Given the description of an element on the screen output the (x, y) to click on. 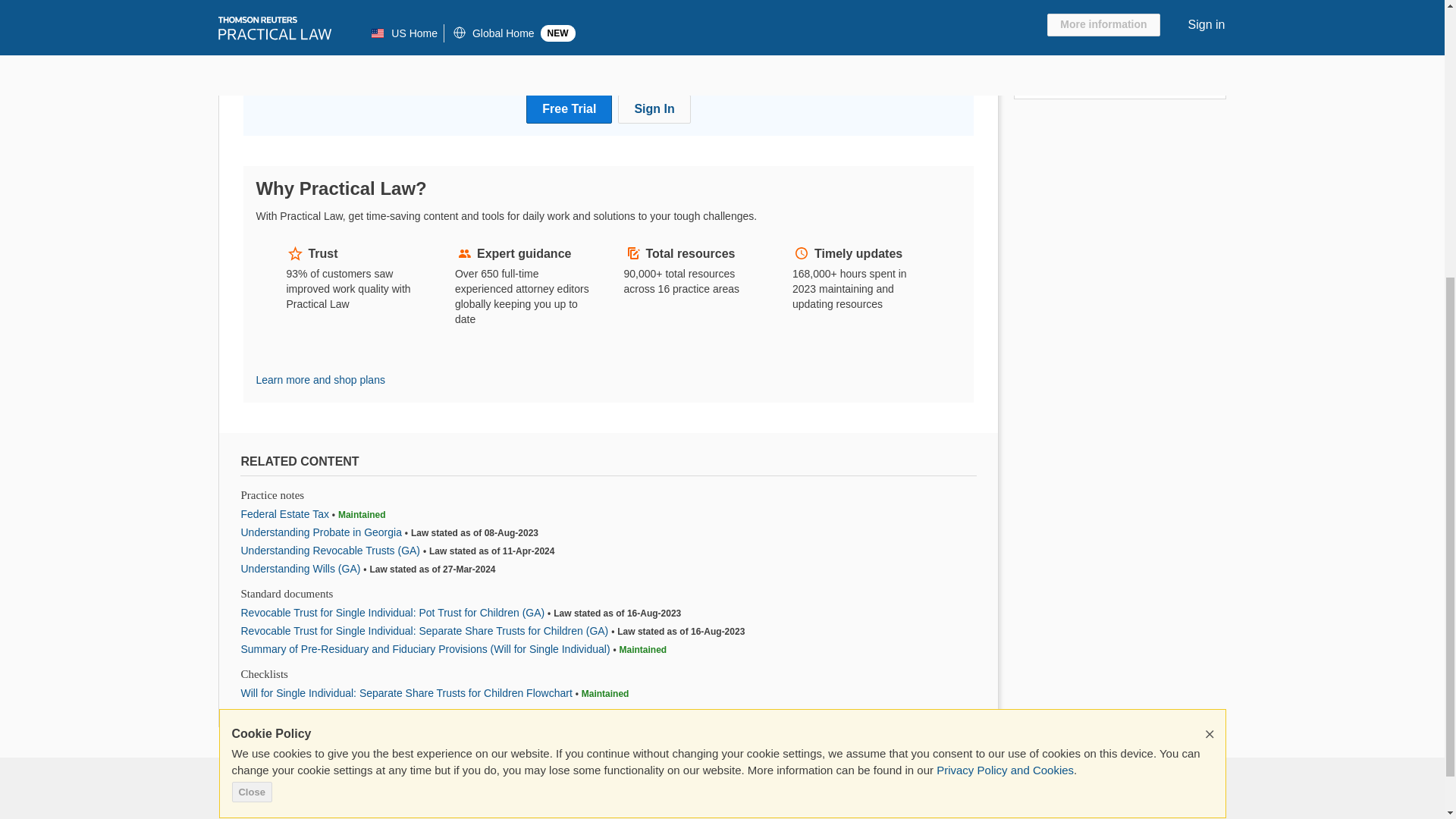
Close message to acknowledge cookie policy (1209, 295)
Learn more and shop plans (320, 379)
Federal Estate Tax (285, 513)
Free Trial (568, 109)
Sign In (653, 109)
Understanding Probate in Georgia (322, 532)
